Given the description of an element on the screen output the (x, y) to click on. 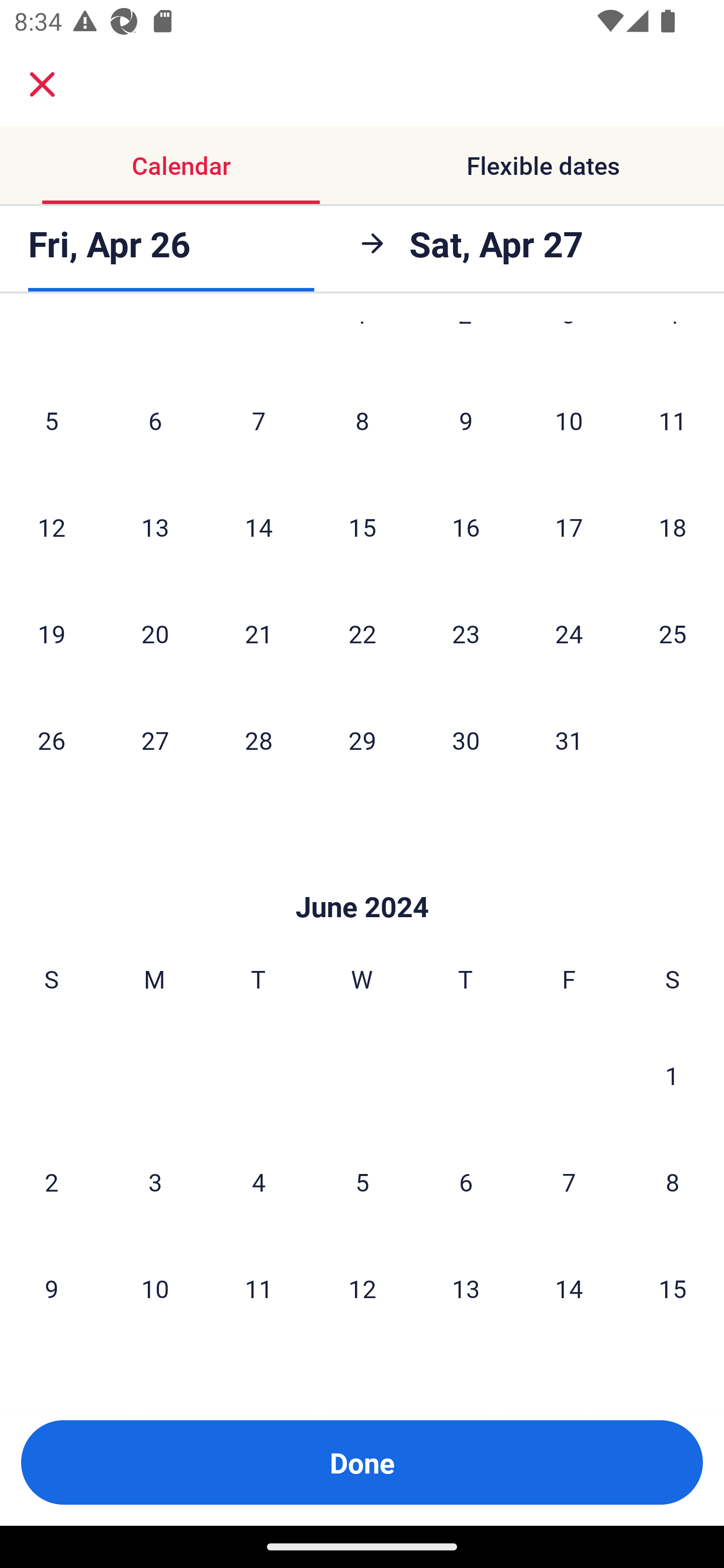
close. (42, 84)
Flexible dates (542, 164)
5 Sunday, May 5, 2024 (51, 419)
6 Monday, May 6, 2024 (155, 419)
7 Tuesday, May 7, 2024 (258, 419)
8 Wednesday, May 8, 2024 (362, 419)
9 Thursday, May 9, 2024 (465, 419)
10 Friday, May 10, 2024 (569, 419)
11 Saturday, May 11, 2024 (672, 419)
12 Sunday, May 12, 2024 (51, 526)
13 Monday, May 13, 2024 (155, 526)
14 Tuesday, May 14, 2024 (258, 526)
15 Wednesday, May 15, 2024 (362, 526)
16 Thursday, May 16, 2024 (465, 526)
17 Friday, May 17, 2024 (569, 526)
18 Saturday, May 18, 2024 (672, 526)
19 Sunday, May 19, 2024 (51, 633)
20 Monday, May 20, 2024 (155, 633)
21 Tuesday, May 21, 2024 (258, 633)
22 Wednesday, May 22, 2024 (362, 633)
23 Thursday, May 23, 2024 (465, 633)
24 Friday, May 24, 2024 (569, 633)
25 Saturday, May 25, 2024 (672, 633)
26 Sunday, May 26, 2024 (51, 739)
27 Monday, May 27, 2024 (155, 739)
28 Tuesday, May 28, 2024 (258, 739)
29 Wednesday, May 29, 2024 (362, 739)
30 Thursday, May 30, 2024 (465, 739)
31 Friday, May 31, 2024 (569, 739)
Skip to Done (362, 876)
1 Saturday, June 1, 2024 (672, 1075)
2 Sunday, June 2, 2024 (51, 1182)
3 Monday, June 3, 2024 (155, 1182)
4 Tuesday, June 4, 2024 (258, 1182)
5 Wednesday, June 5, 2024 (362, 1182)
6 Thursday, June 6, 2024 (465, 1182)
7 Friday, June 7, 2024 (569, 1182)
8 Saturday, June 8, 2024 (672, 1182)
9 Sunday, June 9, 2024 (51, 1288)
10 Monday, June 10, 2024 (155, 1288)
11 Tuesday, June 11, 2024 (258, 1288)
12 Wednesday, June 12, 2024 (362, 1288)
13 Thursday, June 13, 2024 (465, 1288)
14 Friday, June 14, 2024 (569, 1288)
15 Saturday, June 15, 2024 (672, 1288)
Done (361, 1462)
